Given the description of an element on the screen output the (x, y) to click on. 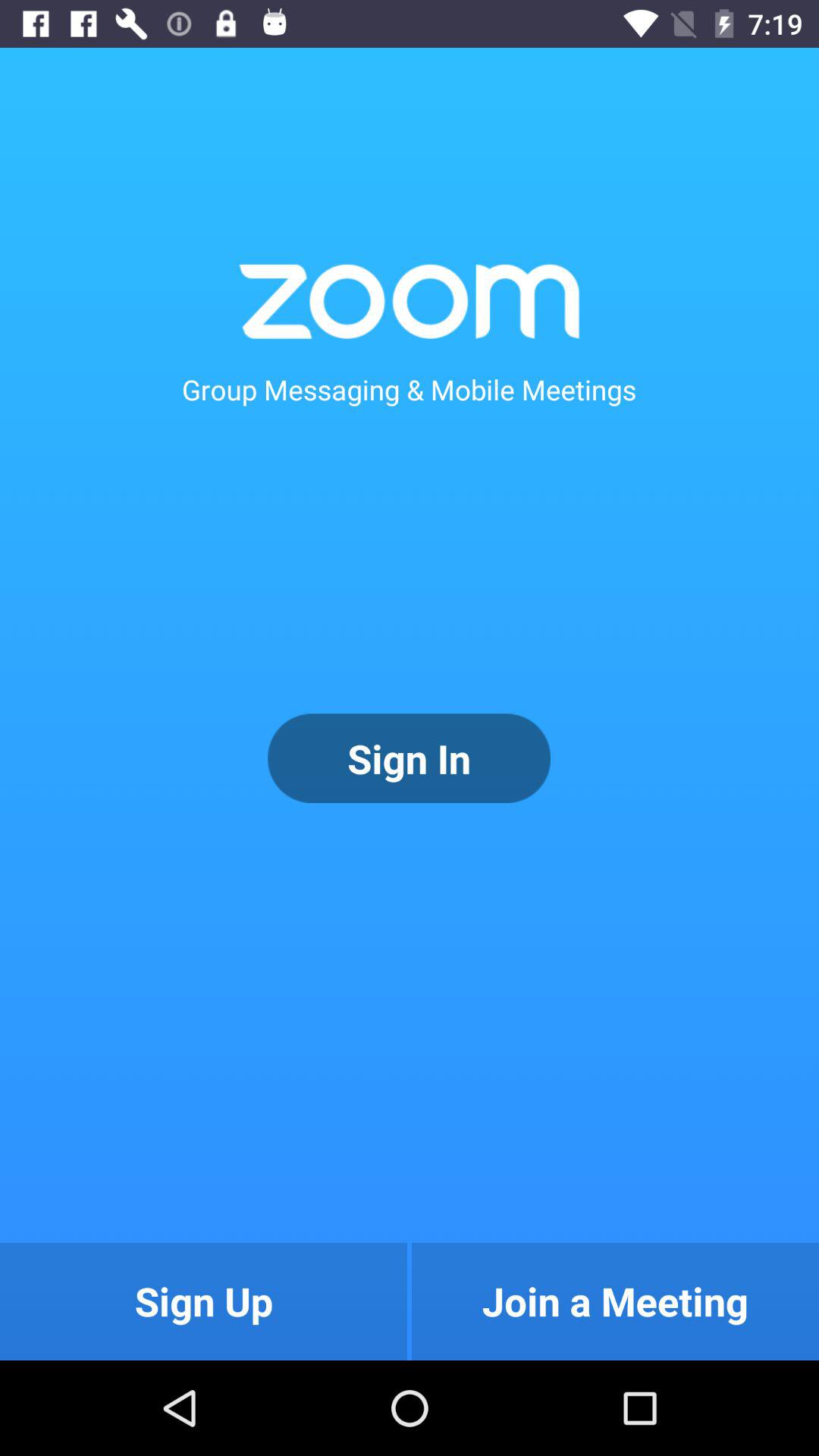
scroll until sign in (408, 758)
